Given the description of an element on the screen output the (x, y) to click on. 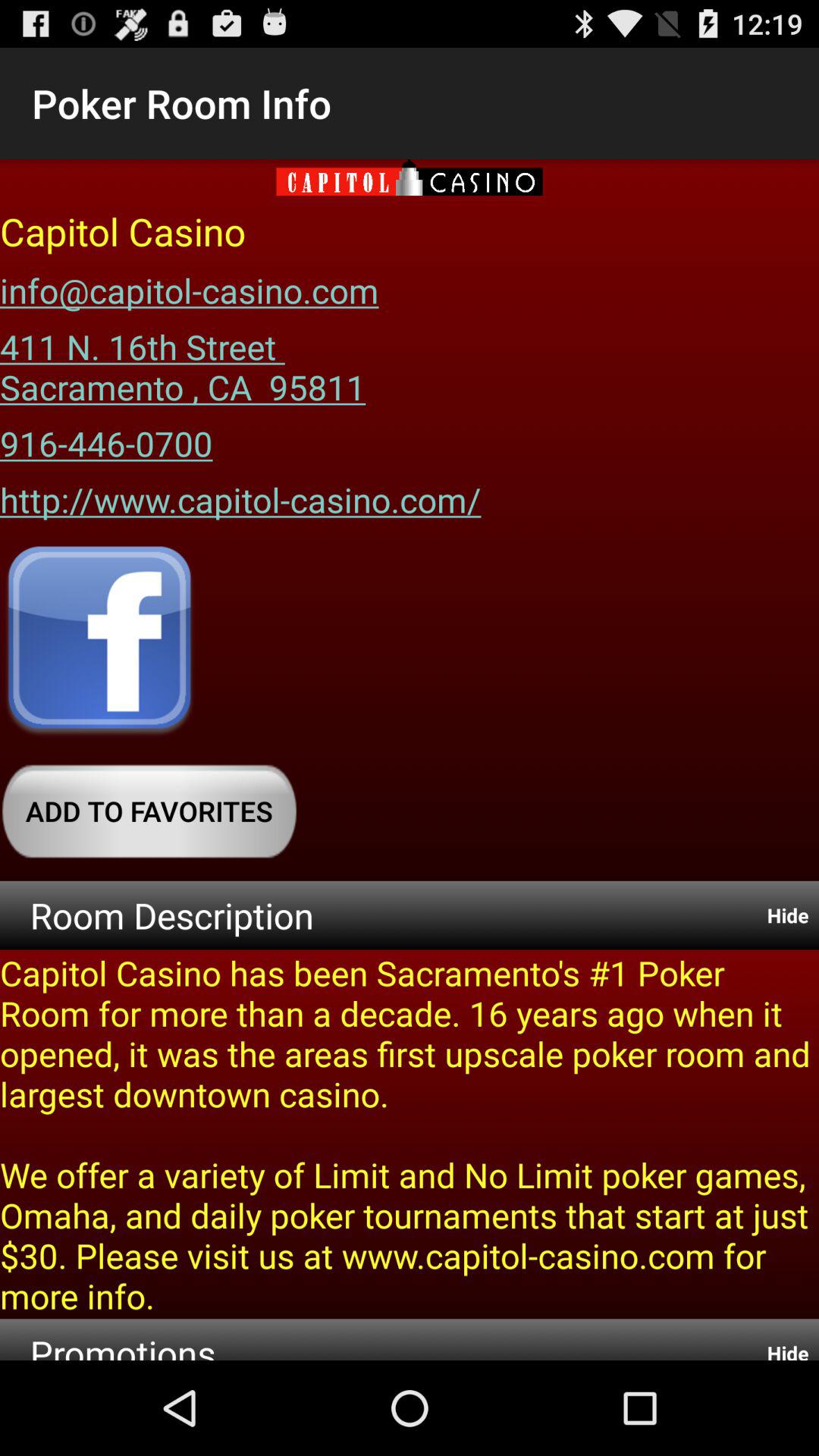
flip until the 411 n 16th icon (182, 361)
